Given the description of an element on the screen output the (x, y) to click on. 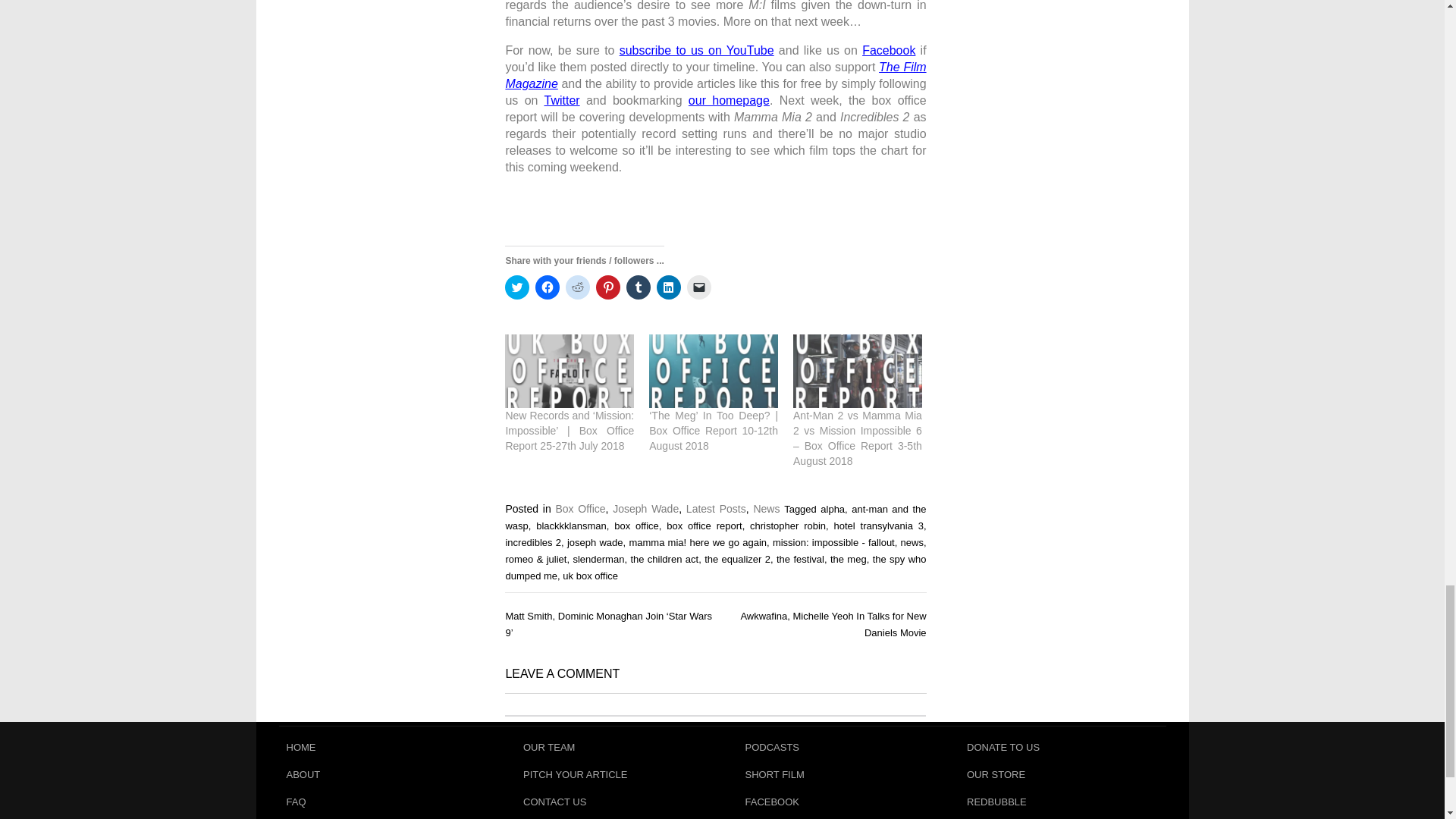
Click to share on Pinterest (607, 287)
Click to share on Tumblr (638, 287)
Click to share on Reddit (577, 287)
Click to share on LinkedIn (668, 287)
Click to email a link to a friend (699, 287)
Click to share on Twitter (517, 287)
Click to share on Facebook (547, 287)
